Given the description of an element on the screen output the (x, y) to click on. 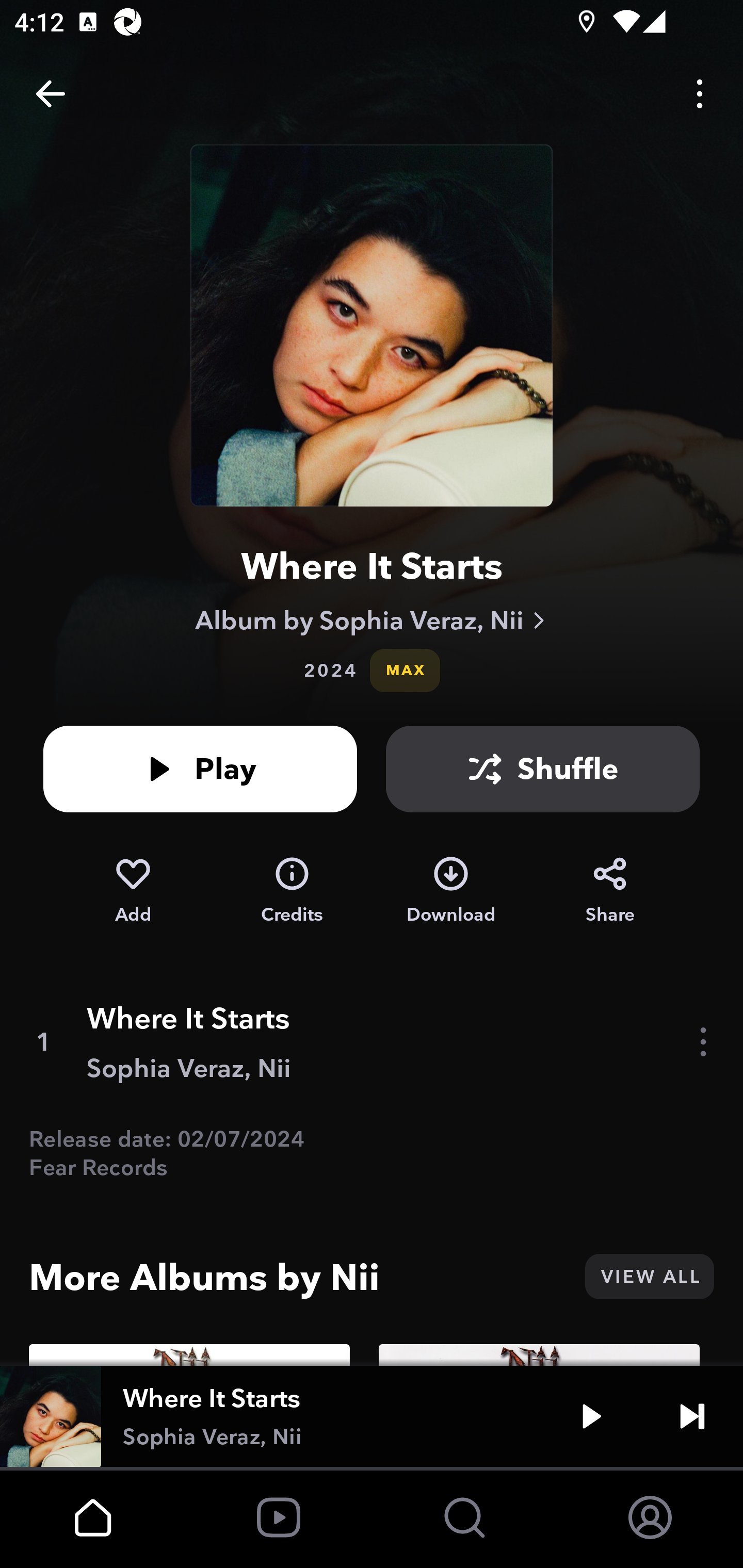
Options (699, 93)
Where It Starts (371, 565)
Album by Sophia Veraz, Nii (371, 619)
Play (200, 768)
Shuffle (542, 768)
Add to My Collection Add (132, 890)
Credits (291, 890)
Download (450, 890)
Share (609, 890)
1 Where It Starts Sophia Veraz, Nii (371, 1041)
VIEW ALL (649, 1276)
Where It Starts Sophia Veraz, Nii Play (371, 1416)
Play (590, 1416)
